Given the description of an element on the screen output the (x, y) to click on. 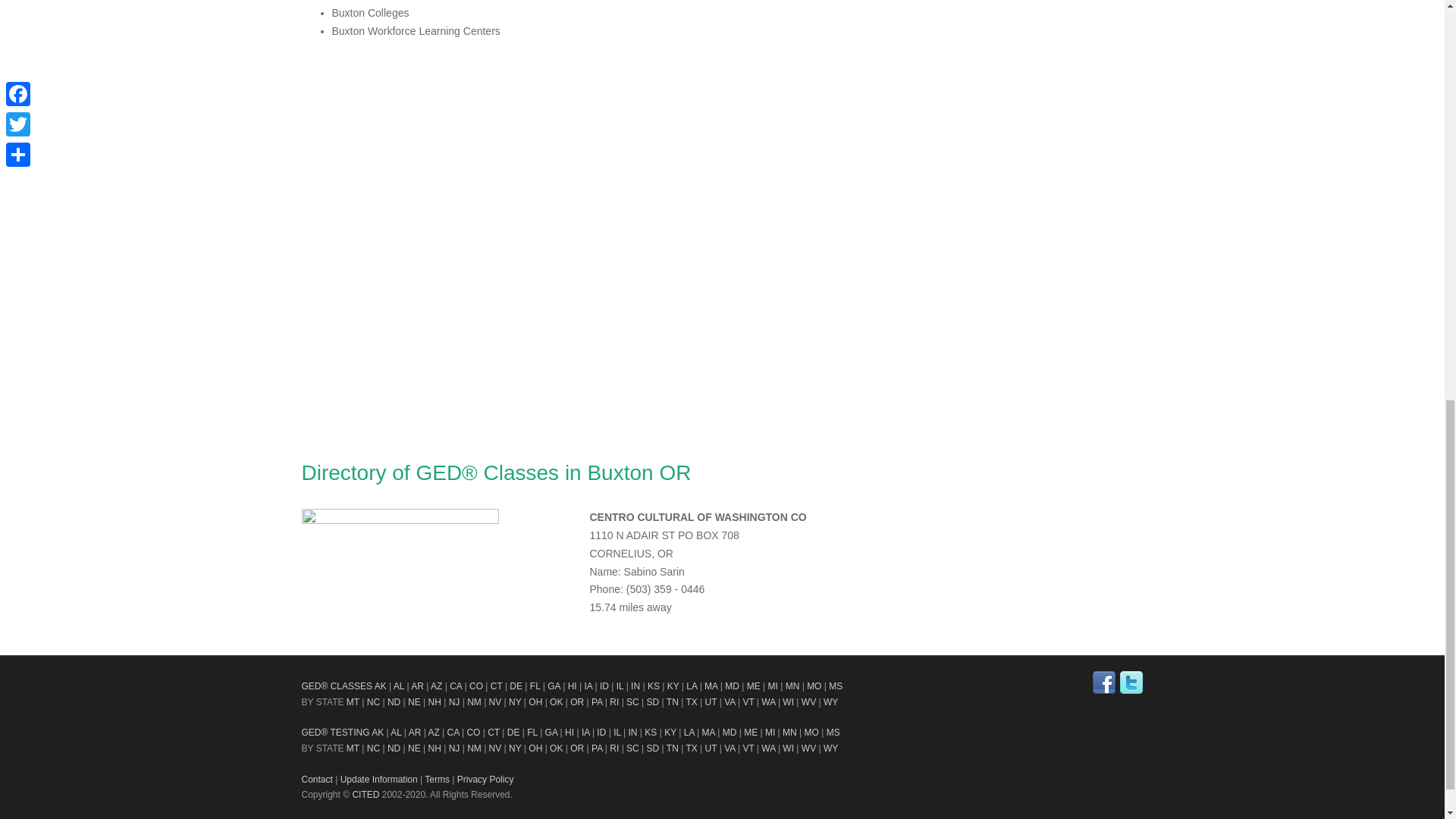
MS (835, 685)
GA (553, 685)
NE (413, 701)
MD (732, 685)
NM (474, 701)
AK (380, 685)
AZ (436, 685)
NH (434, 701)
NJ (454, 701)
FL (534, 685)
LA (691, 685)
ME (753, 685)
MI (772, 685)
MN (792, 685)
ND (393, 701)
